Given the description of an element on the screen output the (x, y) to click on. 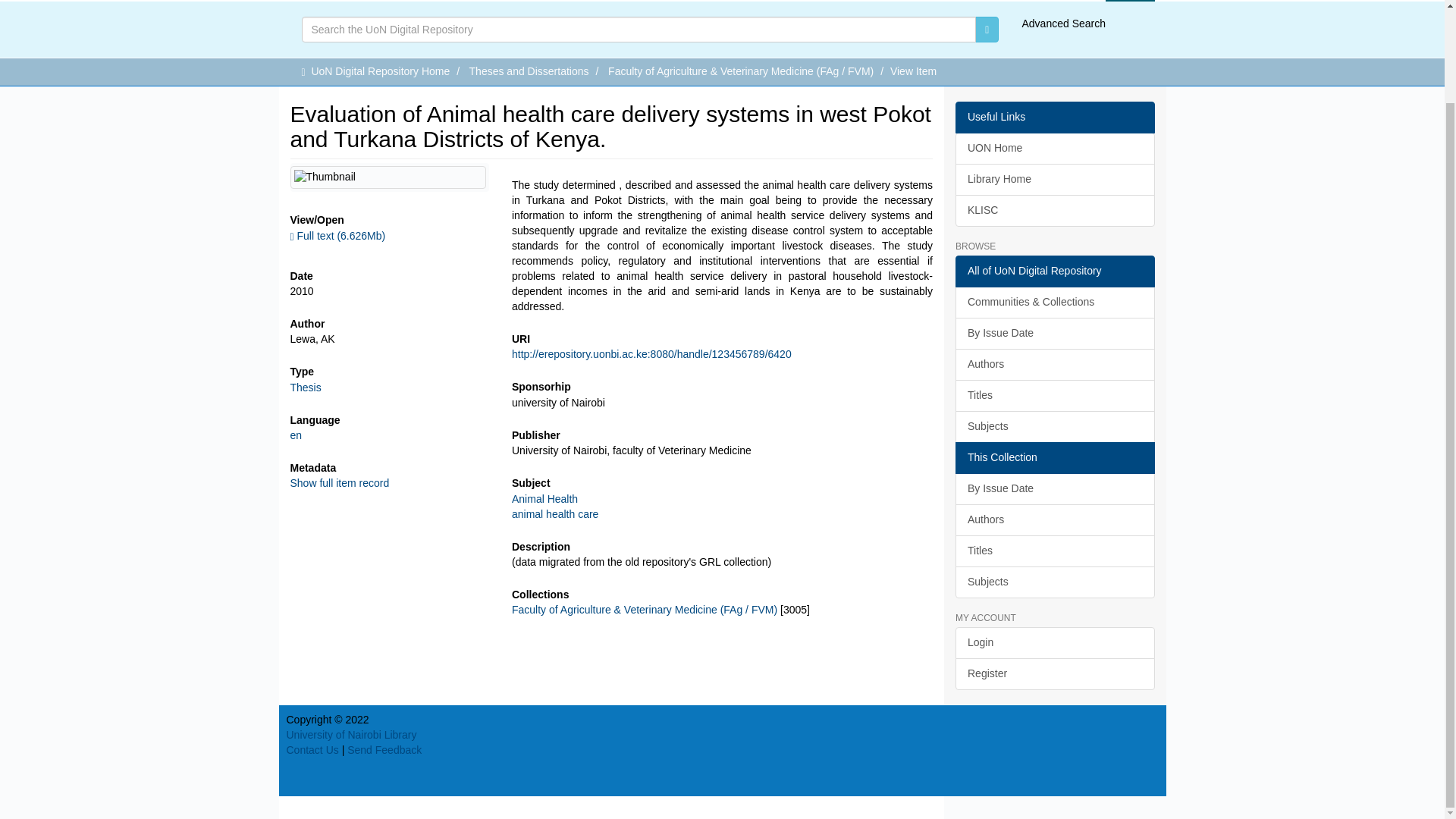
Theses and Dissertations (528, 70)
Go (986, 29)
en (295, 435)
UON Home (1054, 148)
Titles (1054, 395)
Authors (1054, 520)
KLISC (1054, 210)
Show full item record (338, 482)
By Issue Date (1054, 333)
Login (1129, 0)
Animal Health (545, 499)
By Issue Date (1054, 489)
Useful Links (1054, 117)
Thesis (304, 387)
Authors (1054, 364)
